Given the description of an element on the screen output the (x, y) to click on. 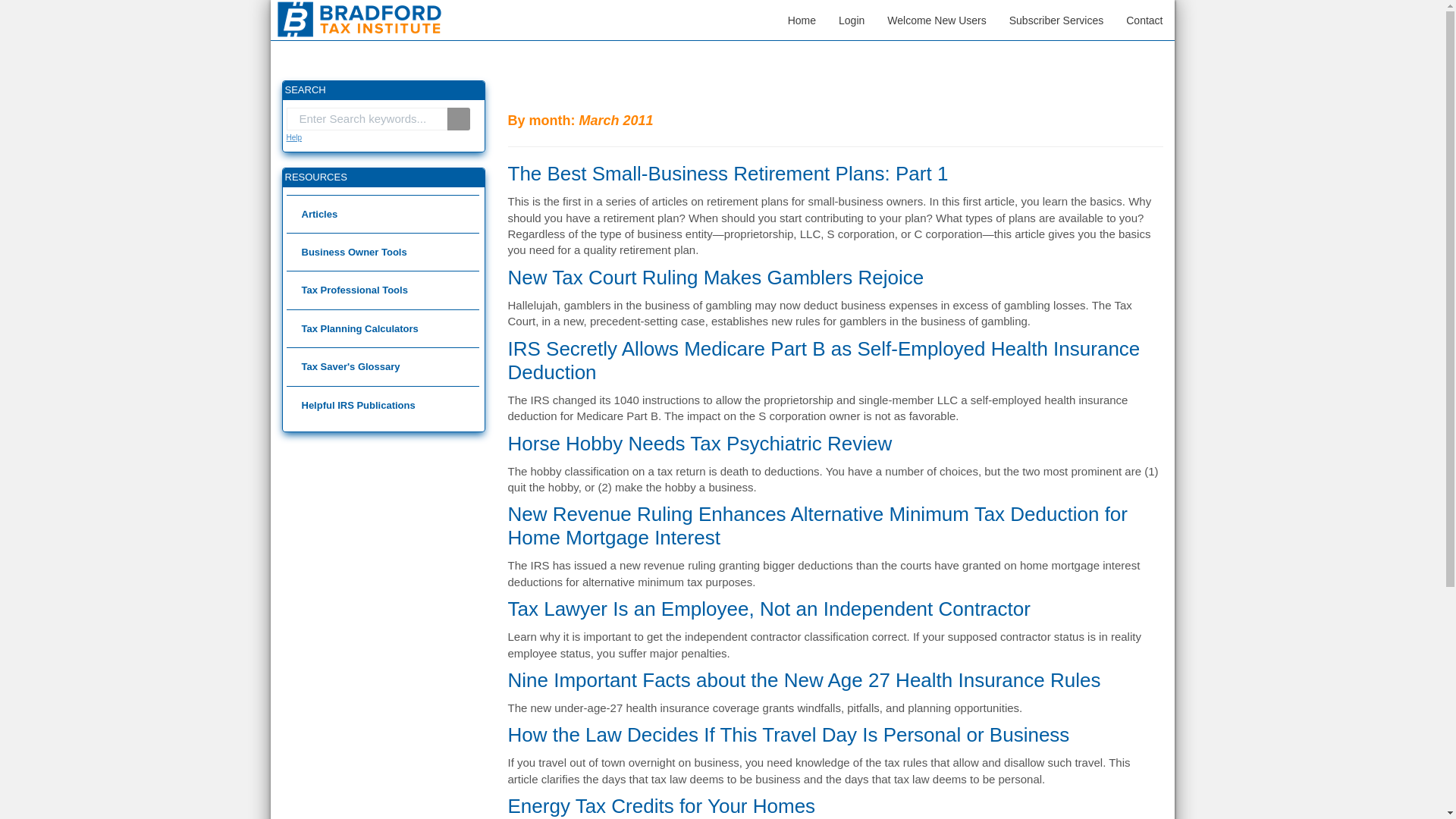
Articles (382, 213)
Contact (1144, 19)
Home (801, 19)
Search (458, 118)
Help (294, 137)
Subscriber Services (1056, 19)
Login (851, 19)
Business Owner Tools (382, 252)
Search (458, 118)
Welcome New Users (936, 19)
